Given the description of an element on the screen output the (x, y) to click on. 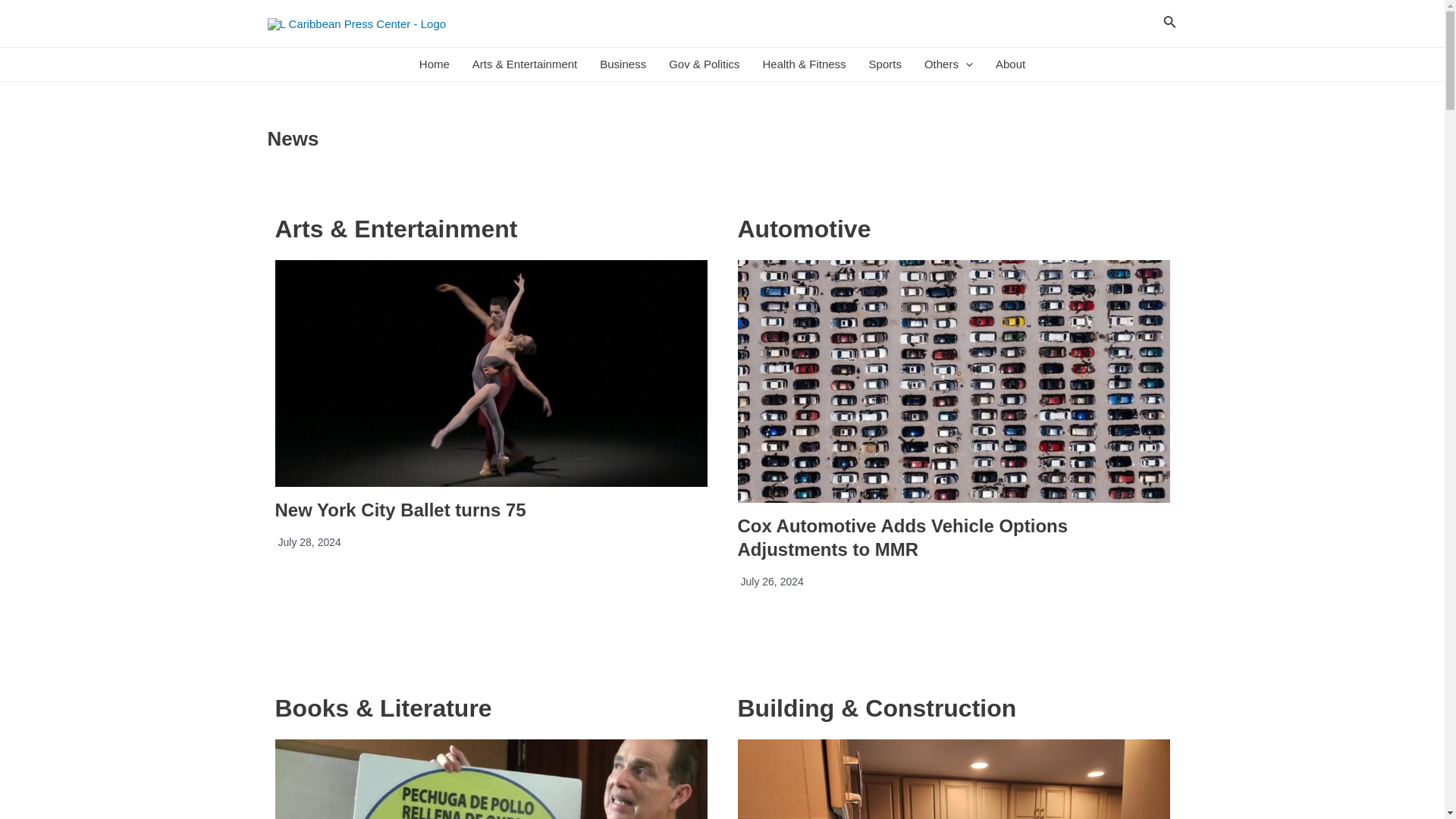
Business (623, 64)
Home (434, 64)
About (1010, 64)
Sports (884, 64)
Others (948, 64)
